Given the description of an element on the screen output the (x, y) to click on. 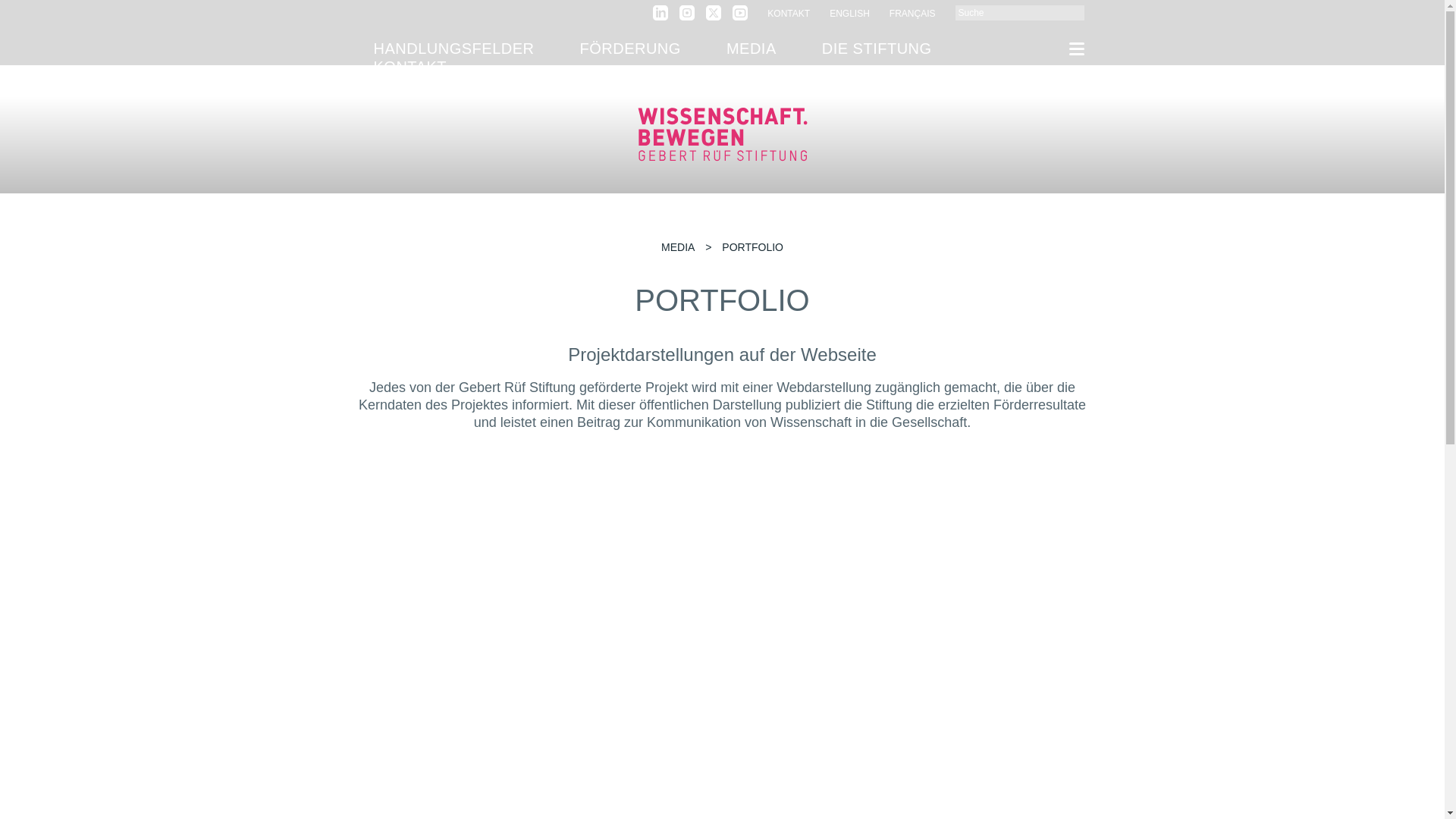
KONTAKT (788, 13)
HANDLUNGSFELDER (453, 48)
DIE STIFTUNG (877, 48)
MEDIA (751, 48)
ENGLISH (849, 13)
KONTAKT (409, 66)
